Given the description of an element on the screen output the (x, y) to click on. 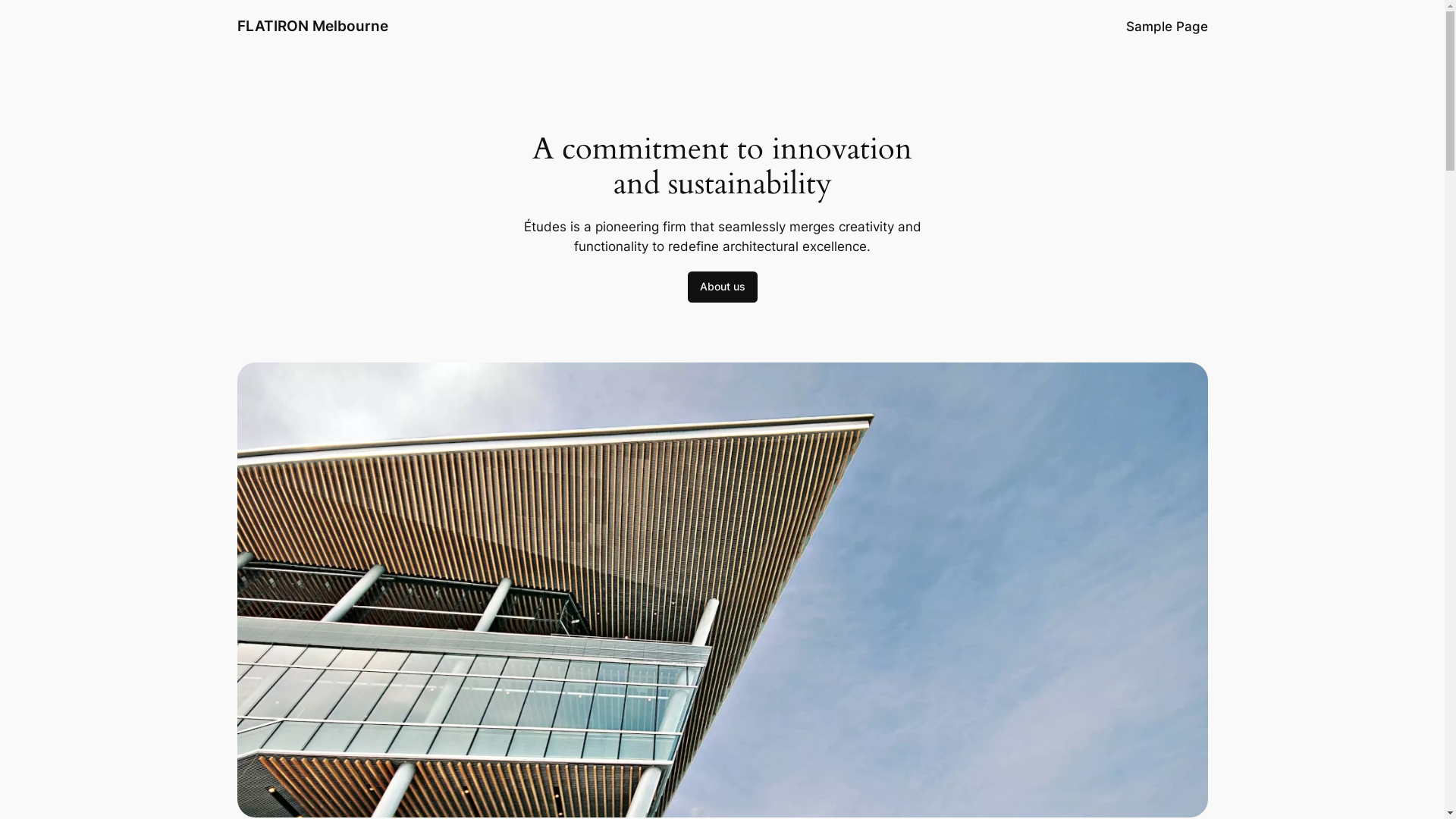
About us Element type: text (721, 287)
FLATIRON Melbourne Element type: text (311, 25)
Sample Page Element type: text (1166, 26)
